Given the description of an element on the screen output the (x, y) to click on. 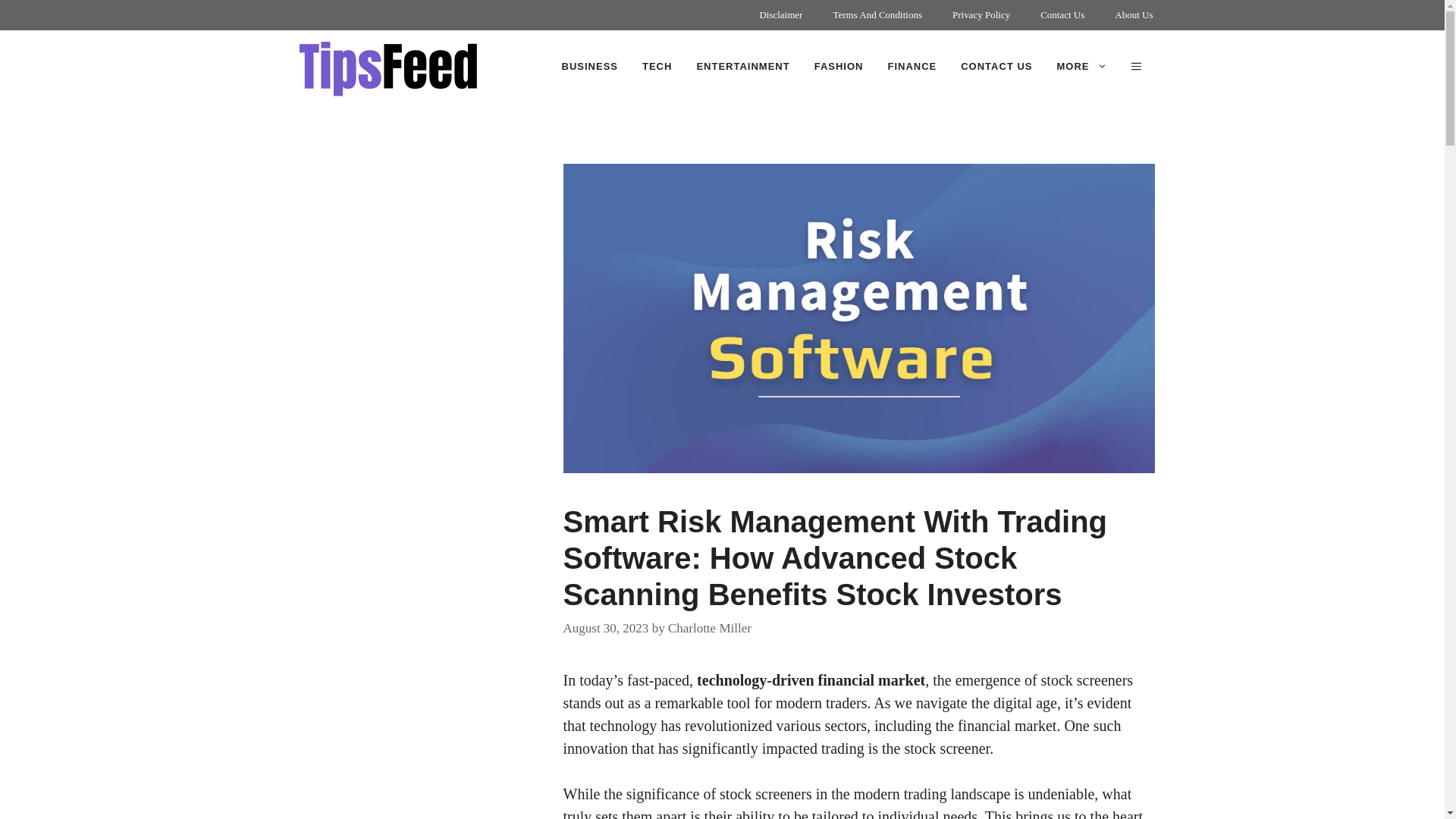
Charlotte Miller (709, 627)
View all posts by Charlotte Miller (709, 627)
CONTACT US (996, 66)
TECH (657, 66)
FINANCE (912, 66)
Privacy Policy (981, 15)
ENTERTAINMENT (743, 66)
BUSINESS (590, 66)
Disclaimer (780, 15)
Contact Us (1062, 15)
Terms And Conditions (876, 15)
About Us (1133, 15)
FASHION (839, 66)
MORE (1082, 66)
